Given the description of an element on the screen output the (x, y) to click on. 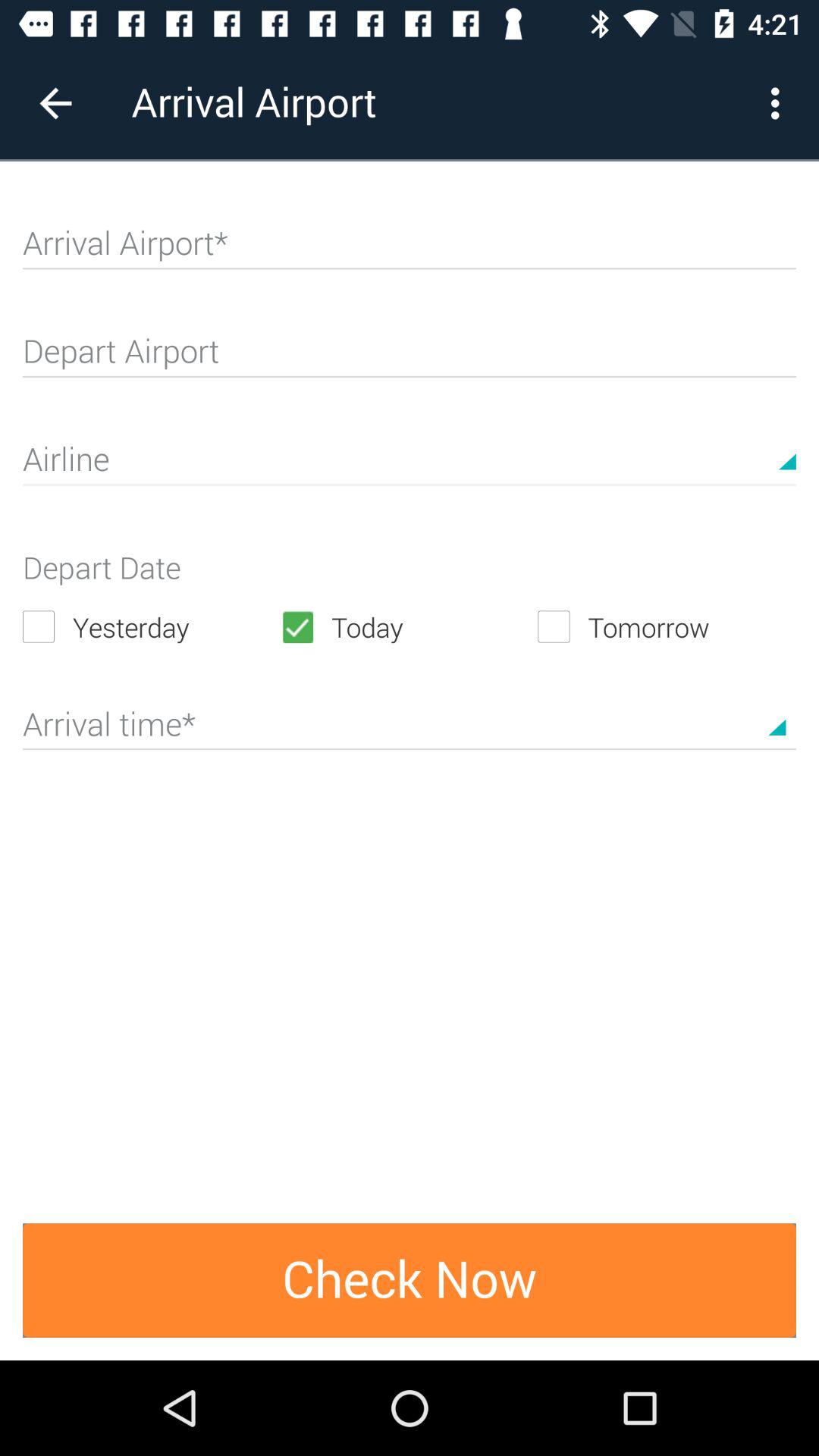
open icon to the right of the today (667, 626)
